Given the description of an element on the screen output the (x, y) to click on. 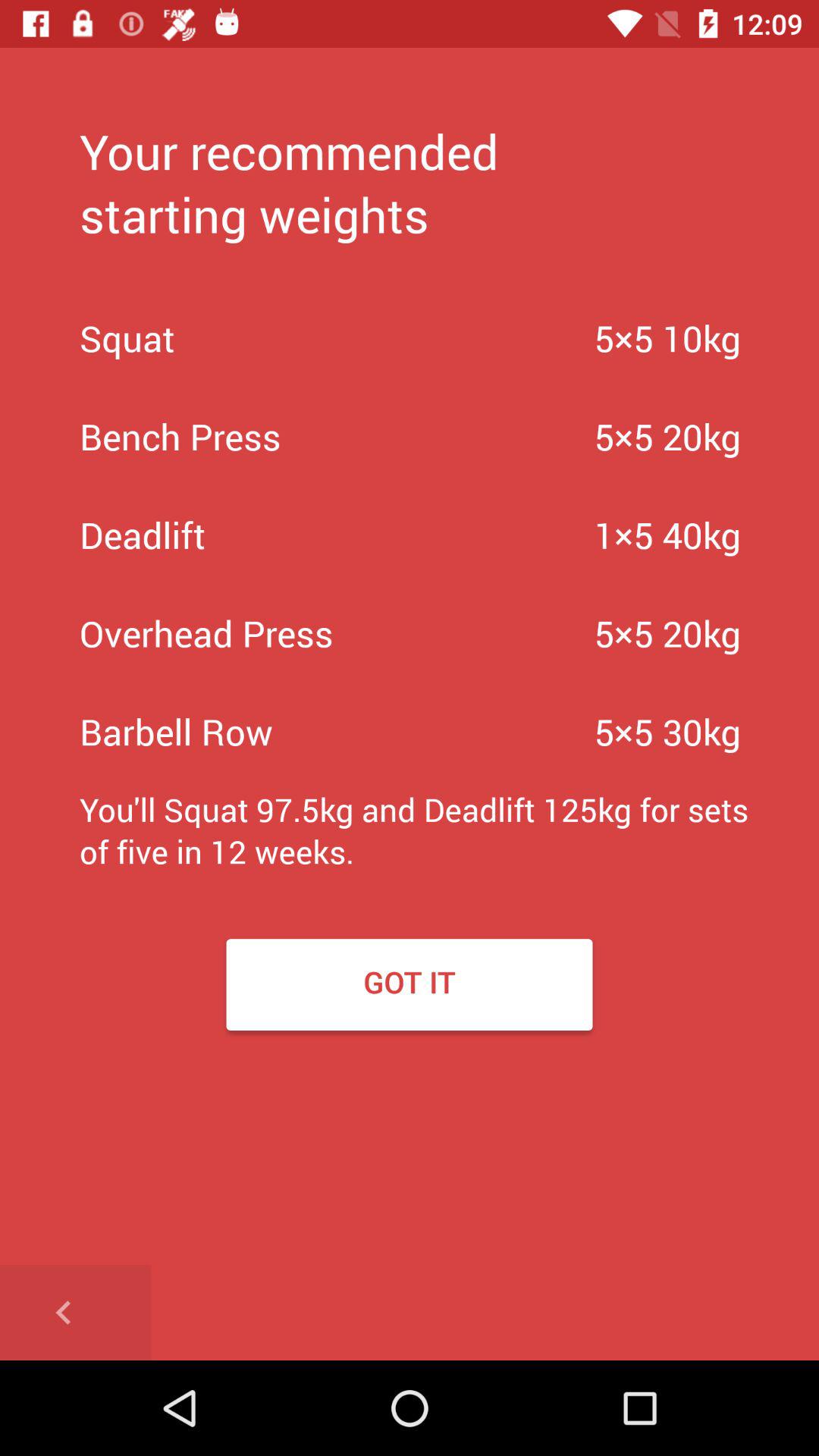
previous page (75, 1312)
